Given the description of an element on the screen output the (x, y) to click on. 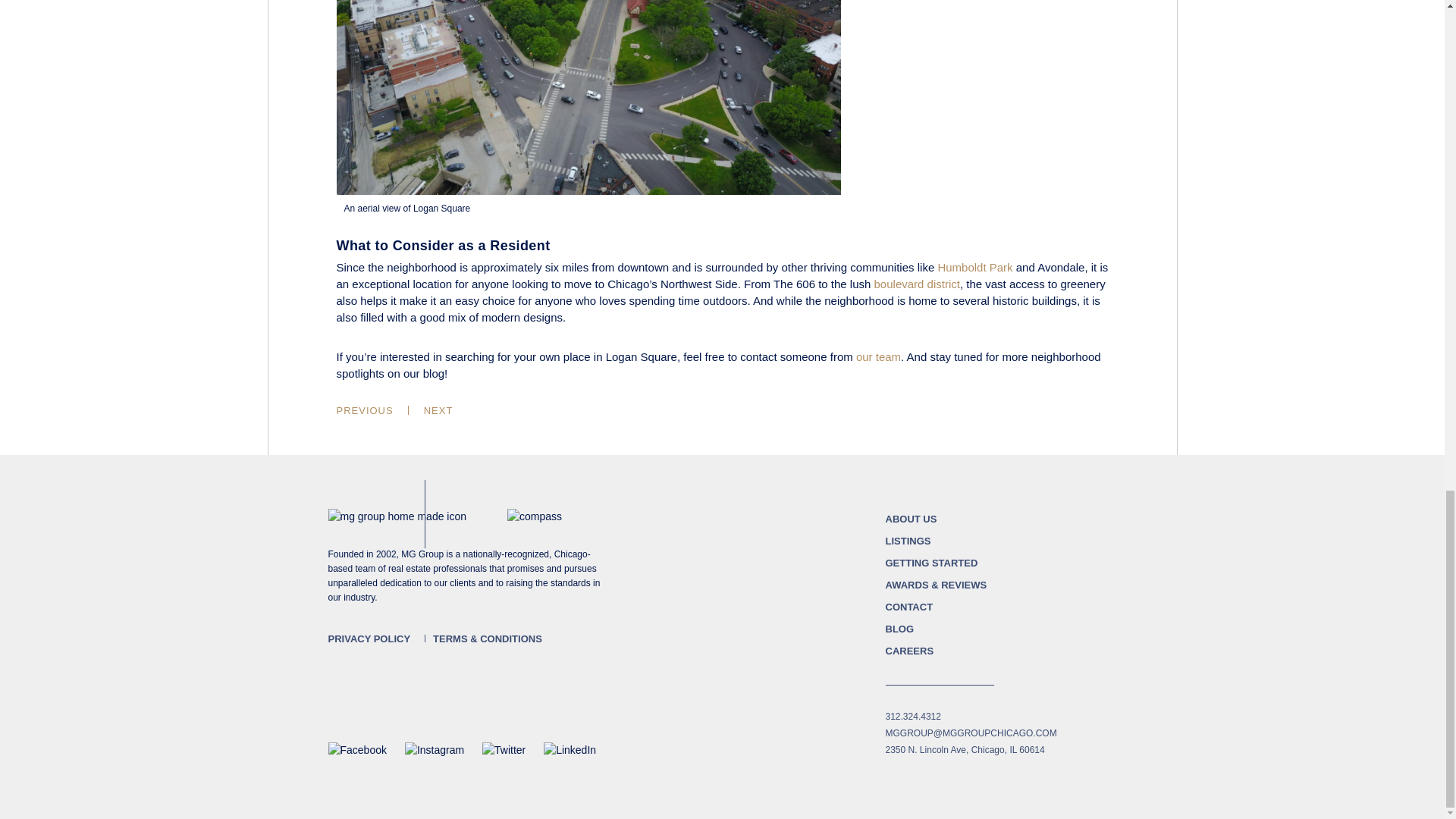
our team (878, 356)
Humboldt Park (974, 267)
boulevard district (917, 283)
